Given the description of an element on the screen output the (x, y) to click on. 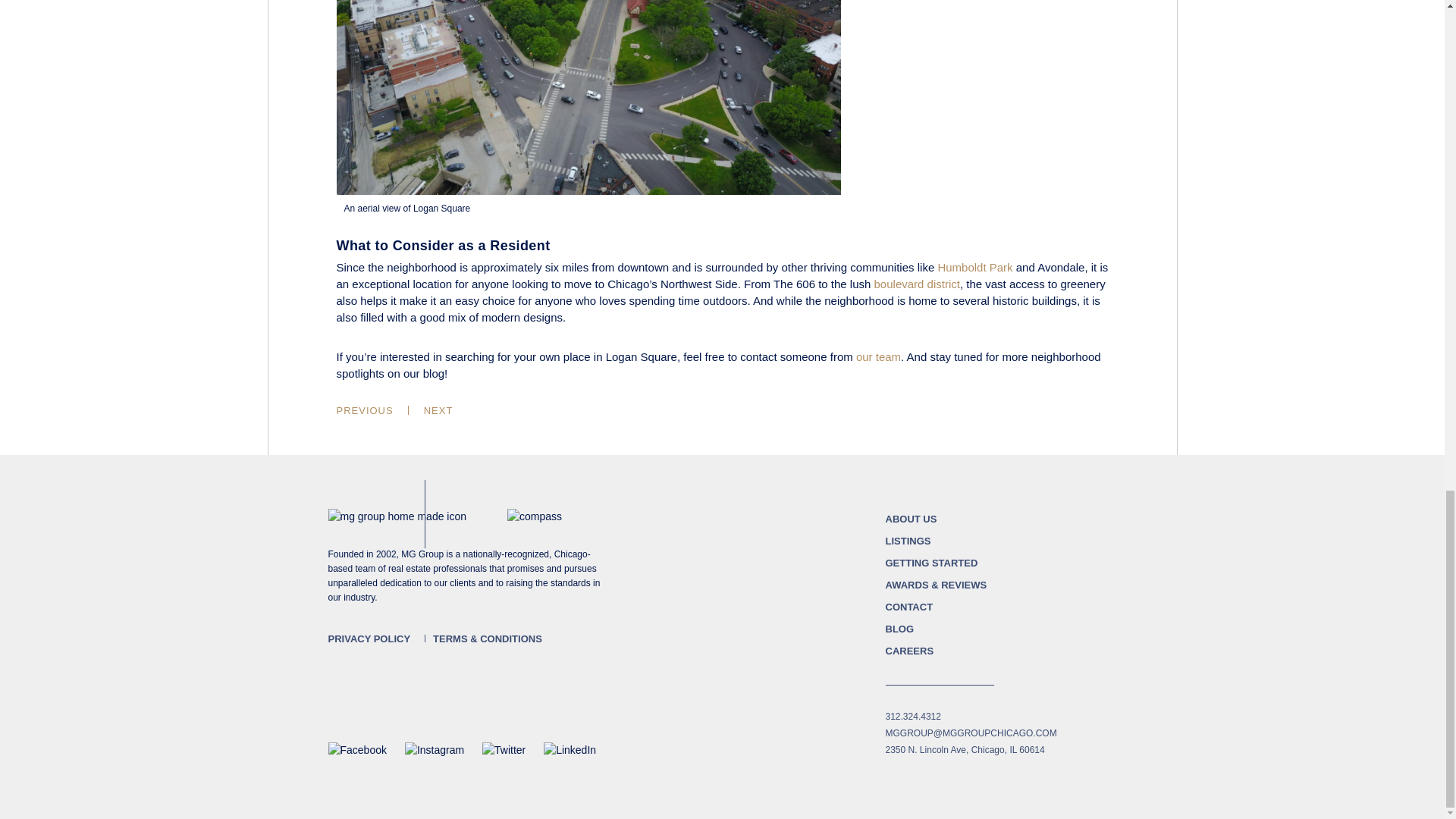
our team (878, 356)
Humboldt Park (974, 267)
boulevard district (917, 283)
